Given the description of an element on the screen output the (x, y) to click on. 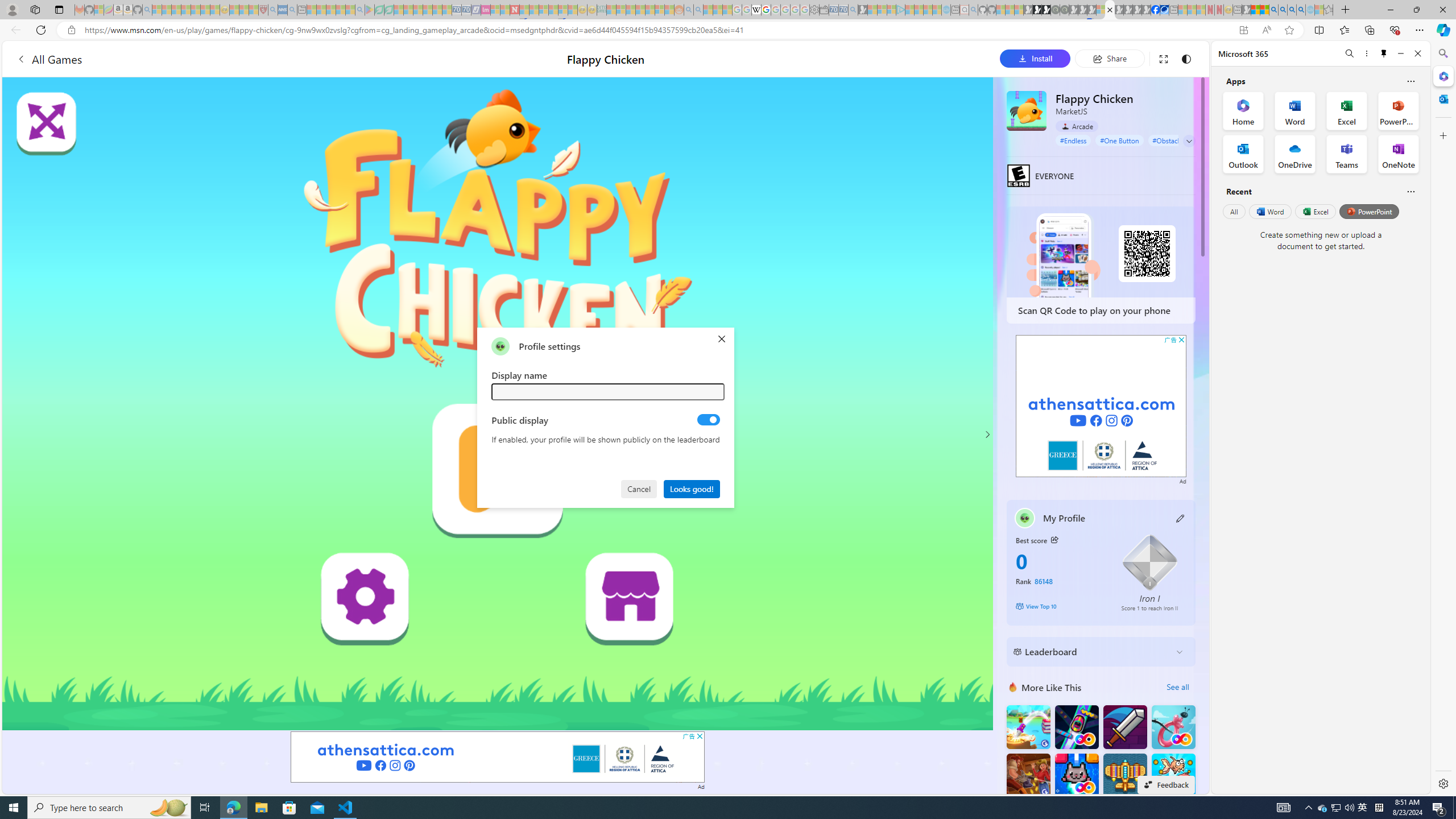
Cheap Hotels - Save70.com - Sleeping (466, 9)
Class: expand-arrow neutral (1188, 141)
Favorites - Sleeping (1328, 9)
Wallet - Sleeping (823, 9)
Expert Portfolios - Sleeping (639, 9)
Sign in to your account - Sleeping (1100, 9)
Settings - Sleeping (814, 9)
Future Focus Report 2024 - Sleeping (1064, 9)
Class: text-input (608, 391)
